Given the description of an element on the screen output the (x, y) to click on. 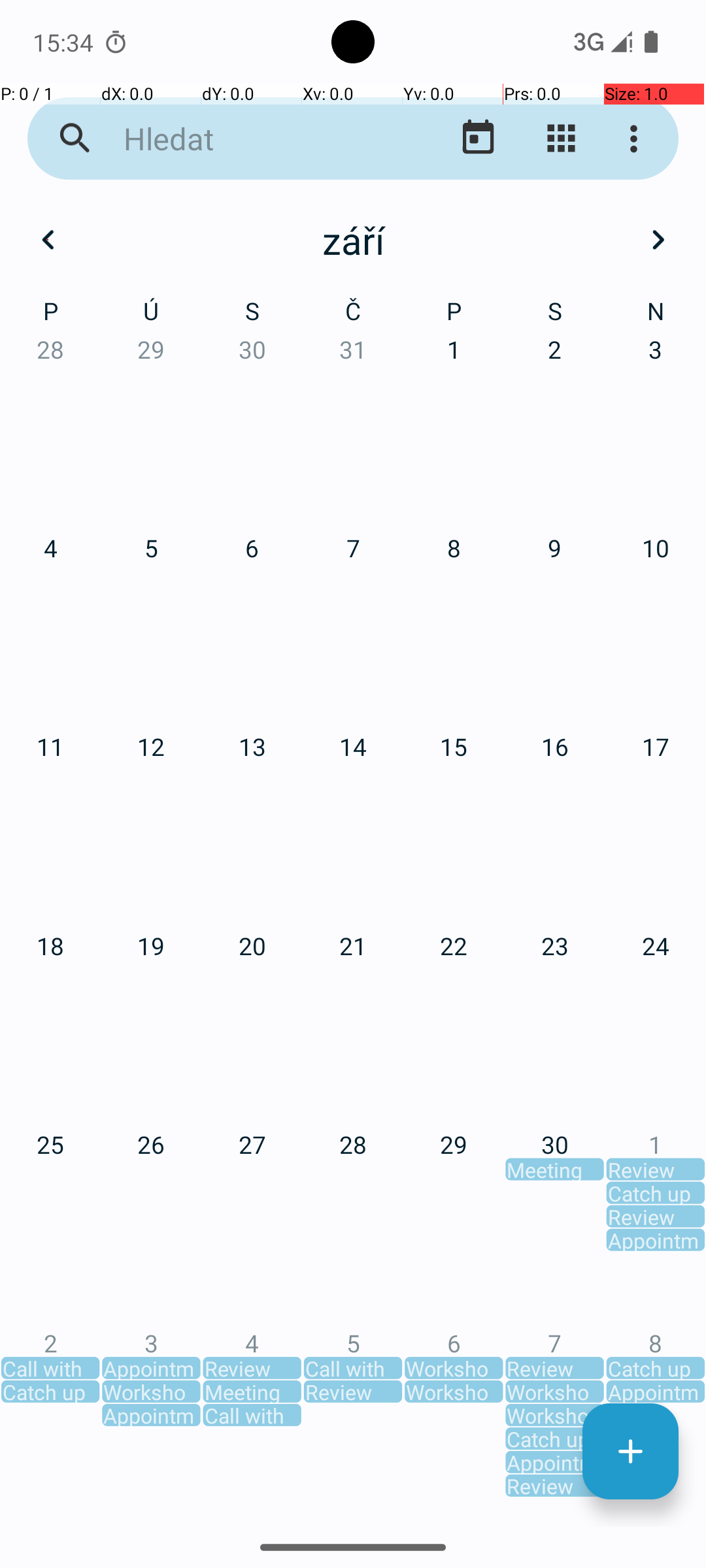
září Element type: android.widget.TextView (352, 239)
